Given the description of an element on the screen output the (x, y) to click on. 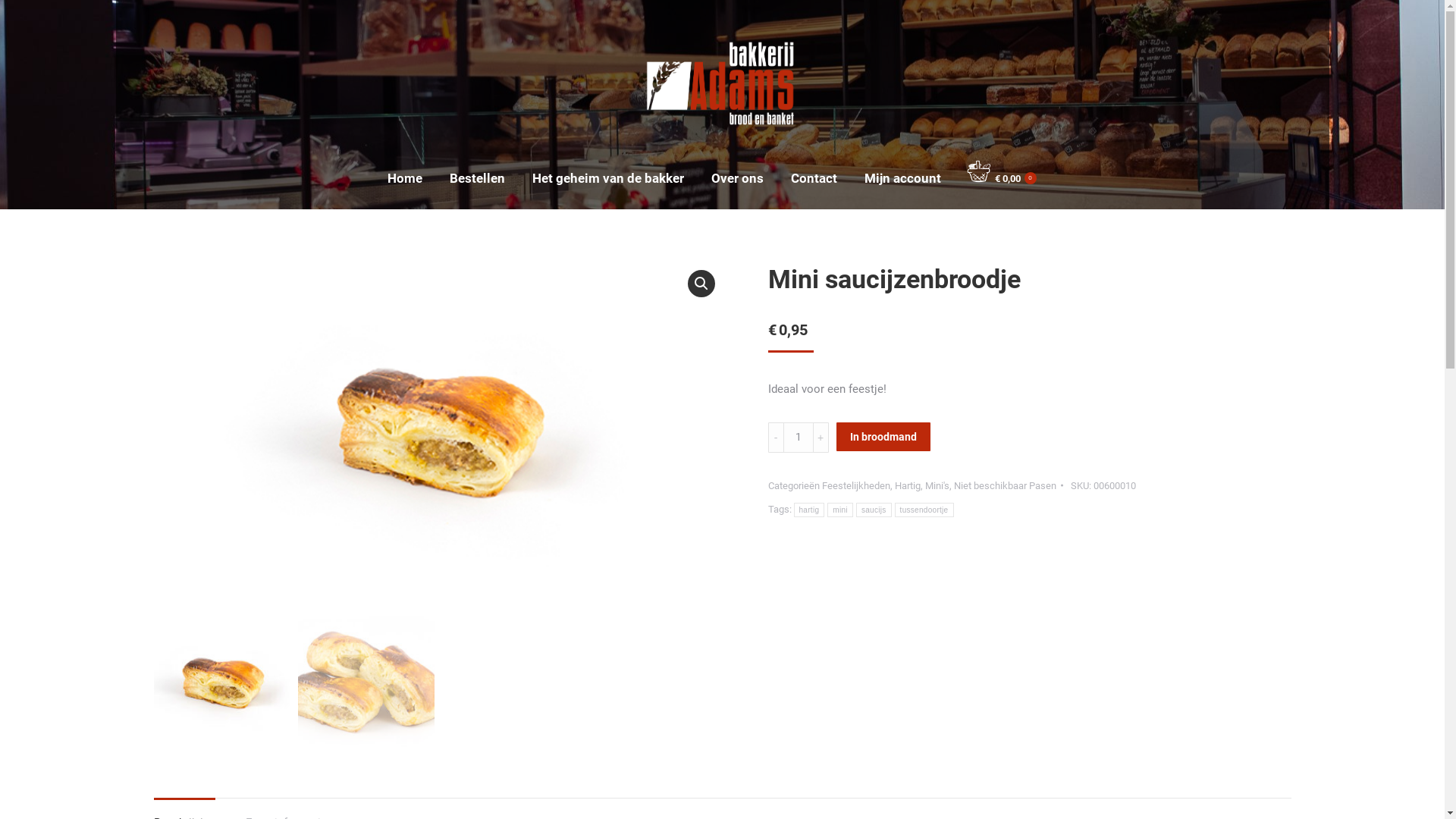
In broodmand Element type: text (882, 436)
Mini's Element type: text (937, 485)
Het geheim van de bakker Element type: text (608, 178)
Over ons Element type: text (737, 178)
Qty Element type: hover (797, 437)
saucijs Element type: text (873, 509)
Bestellen Element type: text (476, 178)
mini Element type: text (840, 509)
Hartig Element type: text (907, 485)
tussendoortje Element type: text (923, 509)
Feestelijkheden Element type: text (856, 485)
Home Element type: text (403, 178)
Saucijs_mini_DSC8854.jpg Element type: hover (437, 435)
Niet beschikbaar Pasen Element type: text (1004, 485)
Contact Element type: text (813, 178)
hartig Element type: text (808, 509)
Mijn account Element type: text (902, 178)
